Given the description of an element on the screen output the (x, y) to click on. 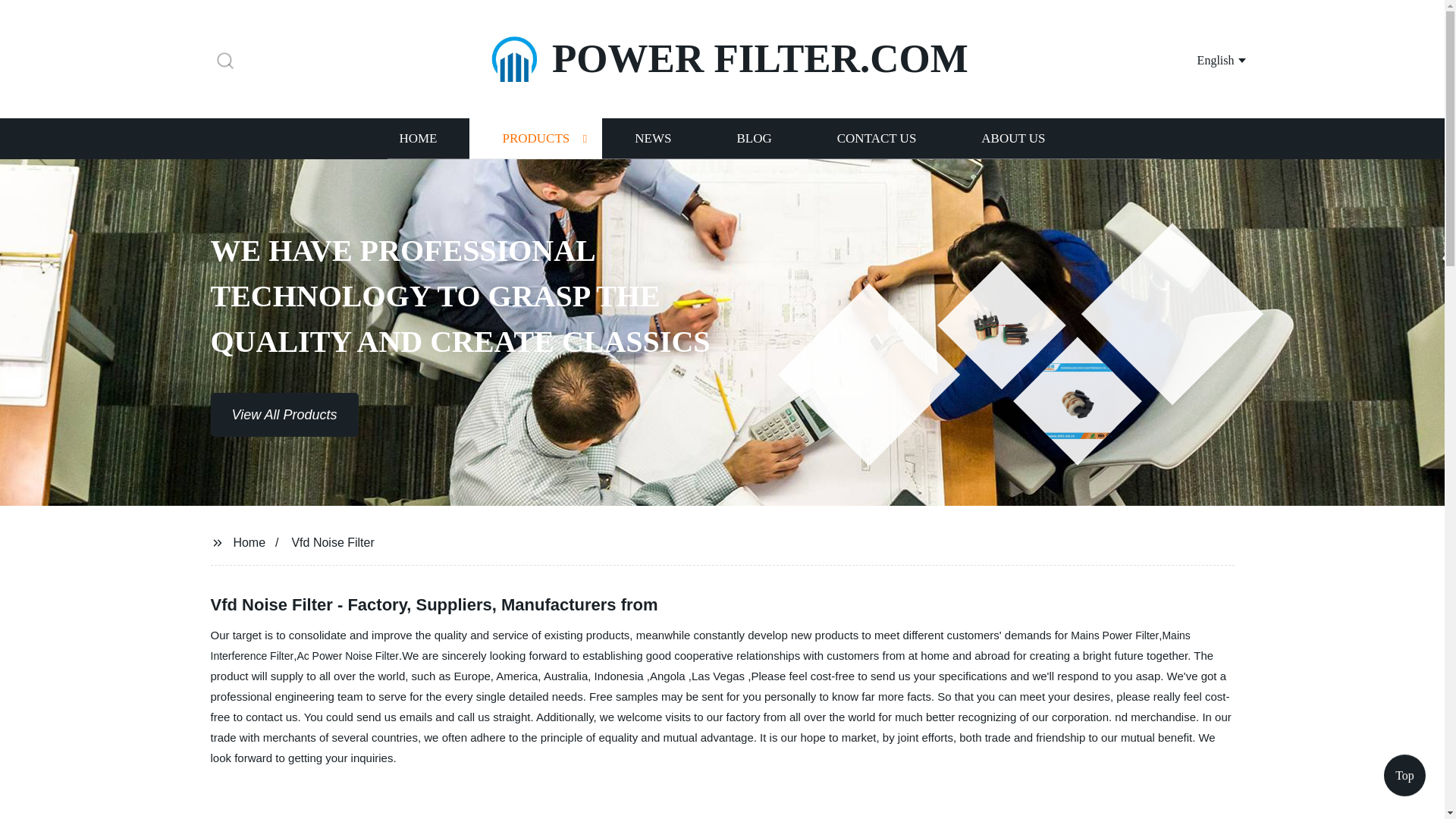
PRODUCTS (535, 137)
Mains Interference Filter (701, 645)
CONTACT US (877, 137)
Home (248, 541)
English (1203, 59)
Mains Interference Filter (701, 645)
HOME (417, 137)
NEWS (652, 137)
ABOUT US (1013, 137)
BLOG (753, 137)
Ac Power Noise Filter (347, 654)
Vfd Noise Filter (332, 541)
English (1203, 59)
Mains Power Filter (1114, 635)
Mains Power Filter (1114, 635)
